Given the description of an element on the screen output the (x, y) to click on. 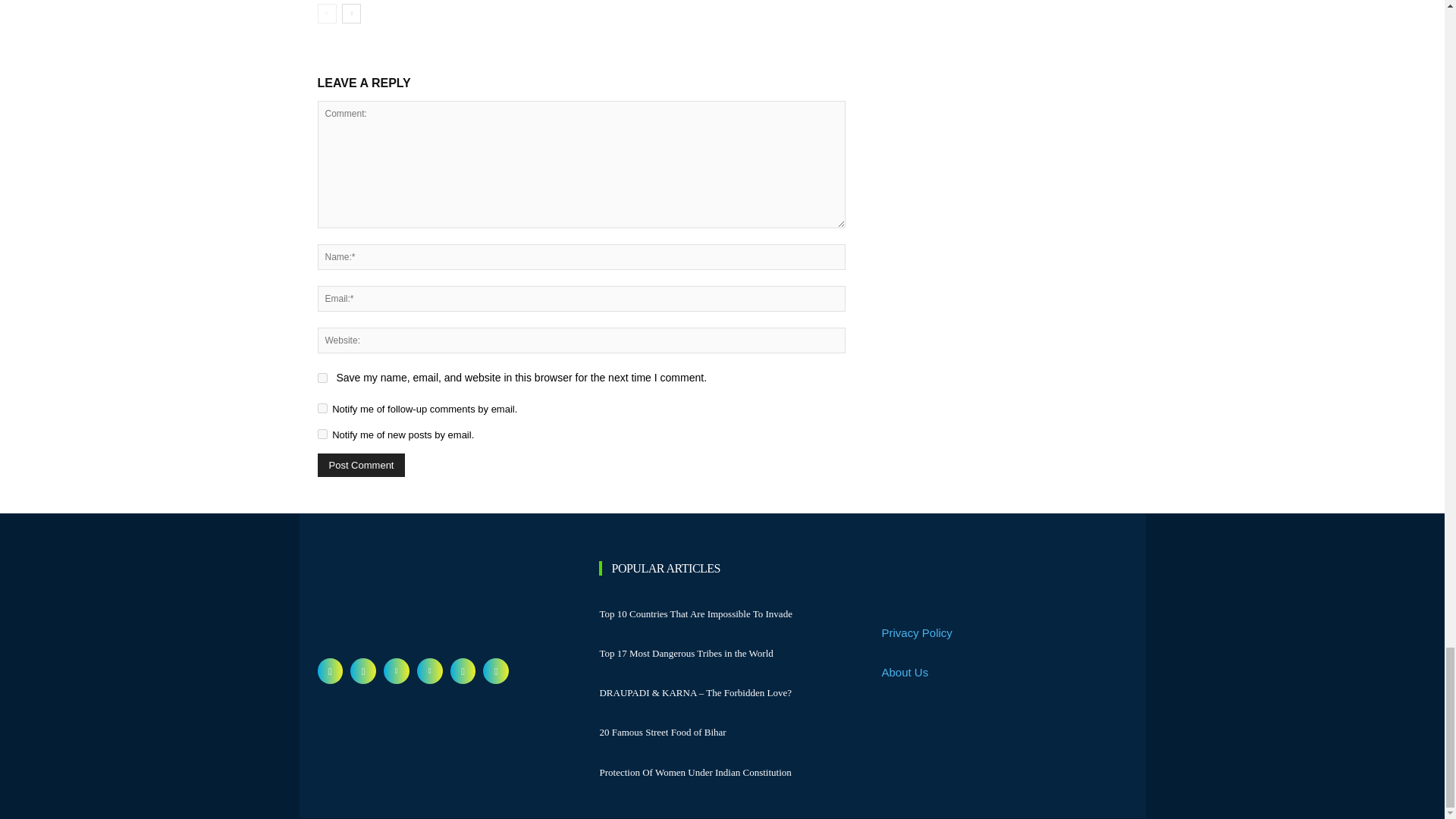
subscribe (321, 433)
yes (321, 378)
Post Comment (360, 464)
subscribe (321, 408)
